Given the description of an element on the screen output the (x, y) to click on. 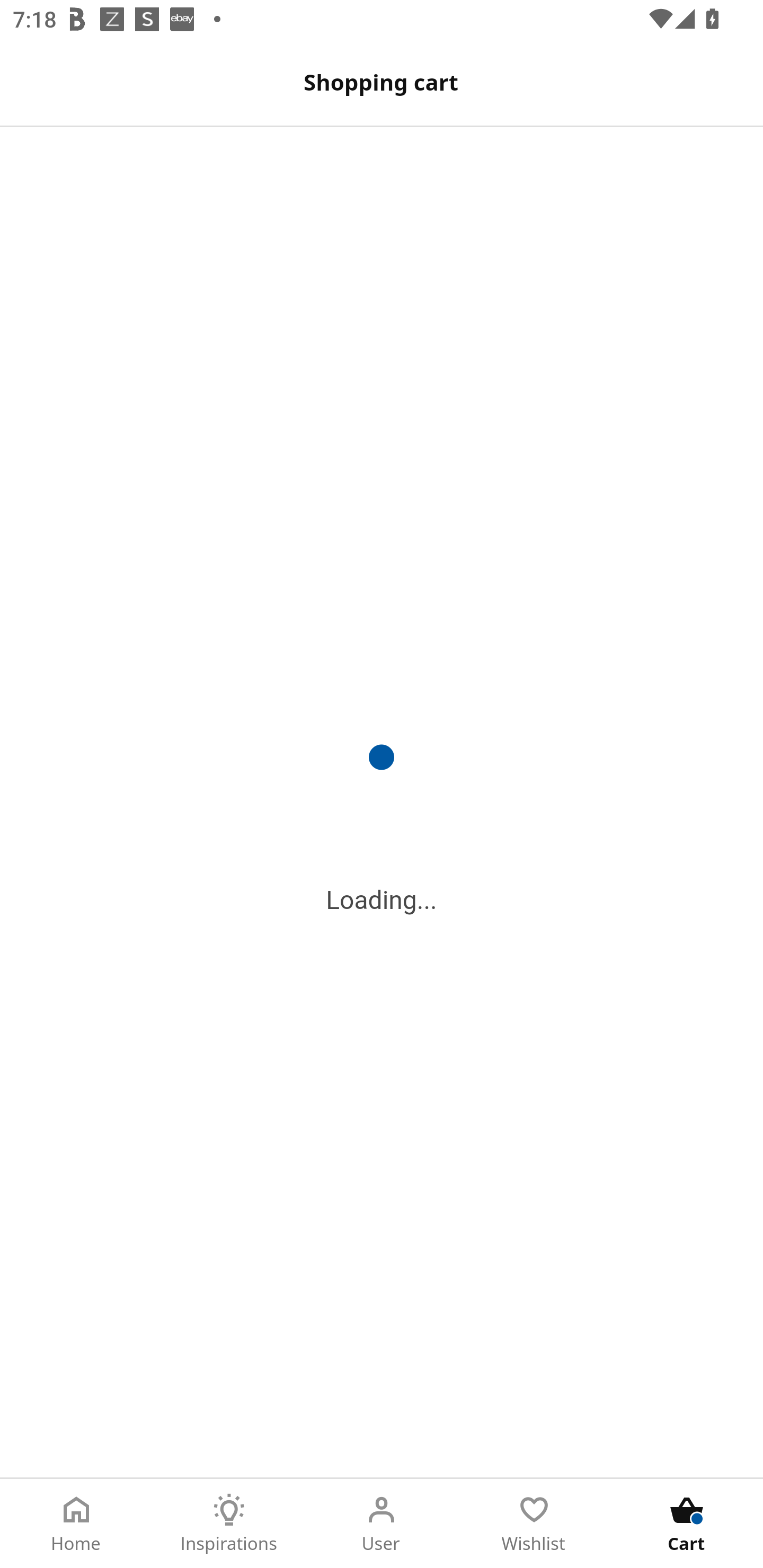
Home
Tab 1 of 5 (76, 1522)
Inspirations
Tab 2 of 5 (228, 1522)
User
Tab 3 of 5 (381, 1522)
Wishlist
Tab 4 of 5 (533, 1522)
Cart
Tab 5 of 5 (686, 1522)
